Given the description of an element on the screen output the (x, y) to click on. 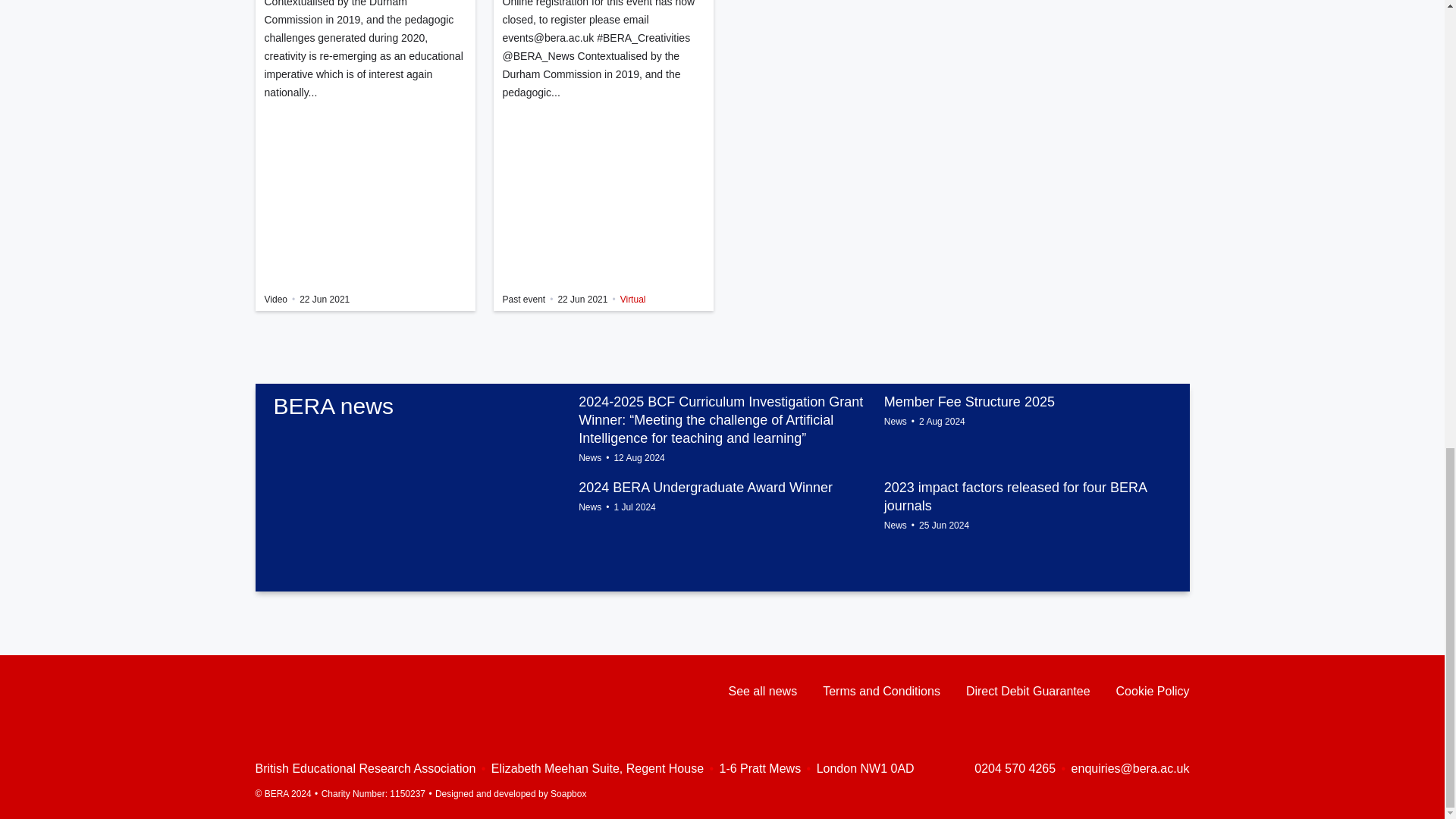
Terms and Conditions (881, 691)
YouTube (321, 691)
Twitter (290, 690)
See all news (762, 691)
Cookie Policy (1152, 691)
Direct Debit Guarantee (1028, 691)
